Given the description of an element on the screen output the (x, y) to click on. 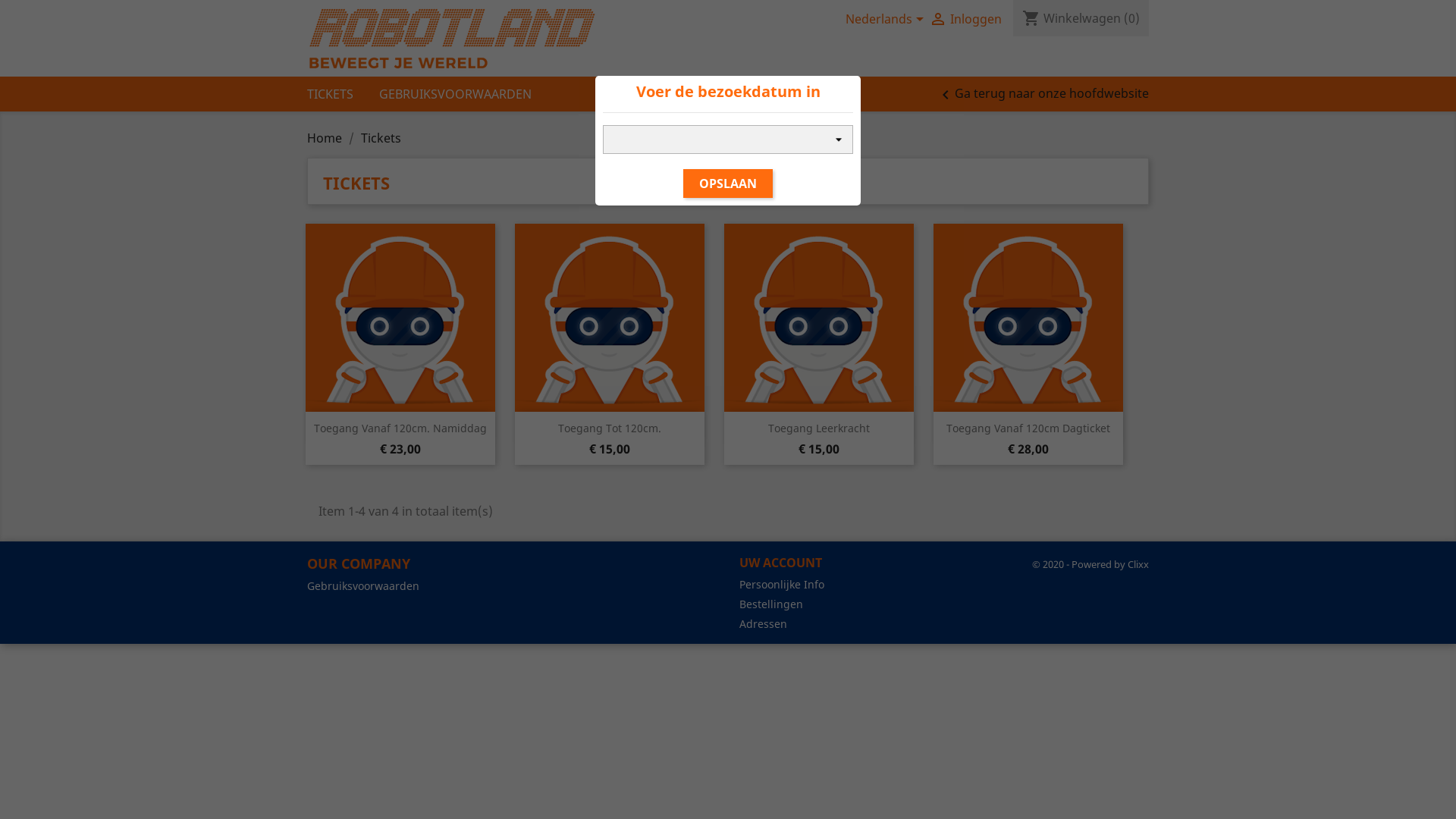
GEBRUIKSVOORWAARDEN Element type: text (466, 93)
Persoonlijke Info Element type: text (781, 584)
Gebruiksvoorwaarden Element type: text (363, 585)
Adressen Element type: text (763, 623)
TICKETS Element type: text (341, 93)
Home Element type: text (326, 137)
Toegang Vanaf 120cm Dagticket Element type: text (1028, 427)
Toegang Tot 120cm. Element type: text (609, 427)
Toegang Vanaf 120cm. Namiddag Element type: text (399, 427)
Tickets Element type: text (380, 137)
OPSLAAN Element type: text (727, 183)
UW ACCOUNT Element type: text (780, 562)
Bestellingen Element type: text (771, 603)
Toegang Leerkracht Element type: text (818, 427)
